Given the description of an element on the screen output the (x, y) to click on. 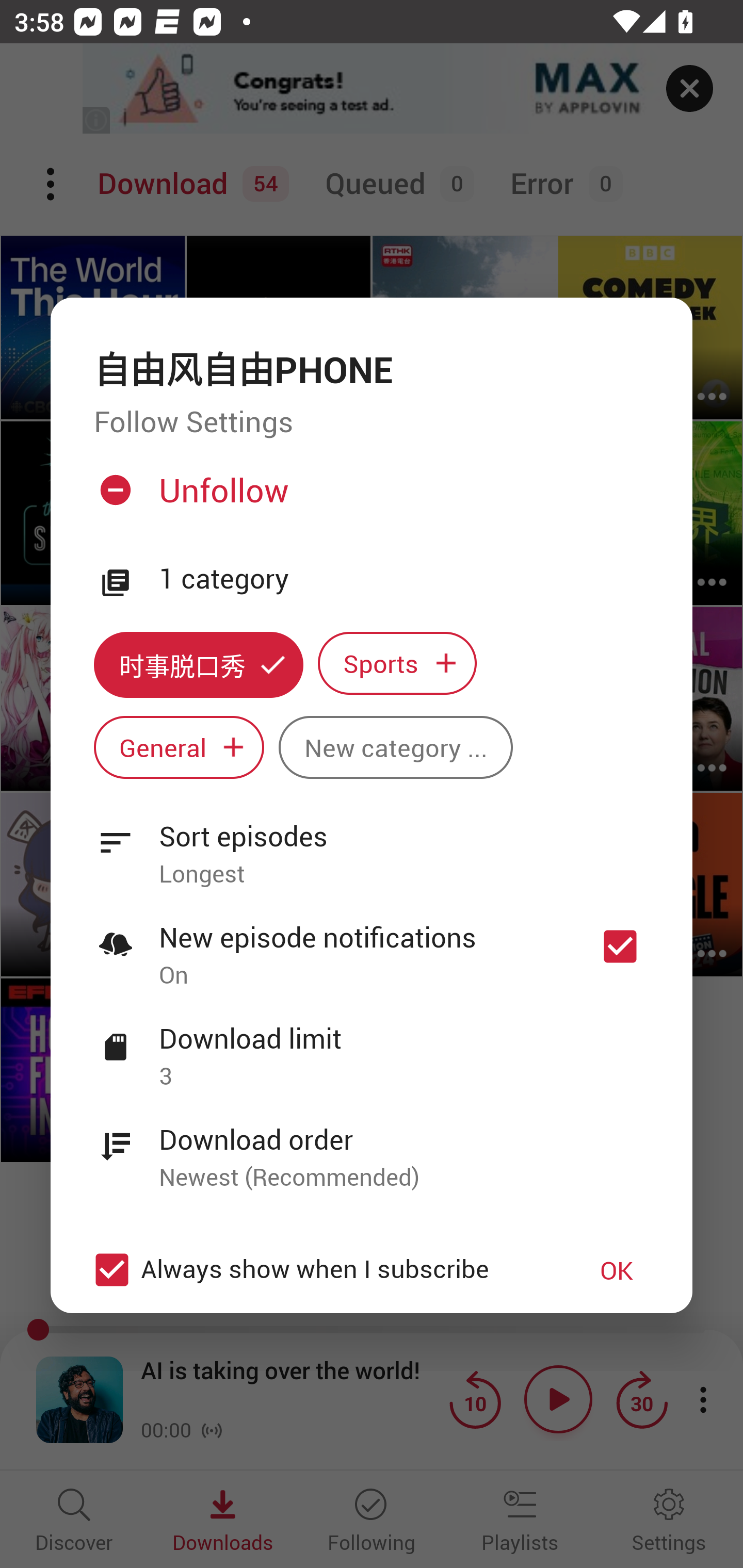
Unfollow (369, 498)
1 category (404, 578)
时事脱口秀 (198, 664)
Sports (397, 662)
General (178, 747)
New category ... (395, 747)
Sort episodes Longest (371, 843)
New episode notifications (620, 946)
Download limit 3 (371, 1045)
Download order Newest (Recommended) (371, 1146)
OK (616, 1269)
Always show when I subscribe (320, 1269)
